Given the description of an element on the screen output the (x, y) to click on. 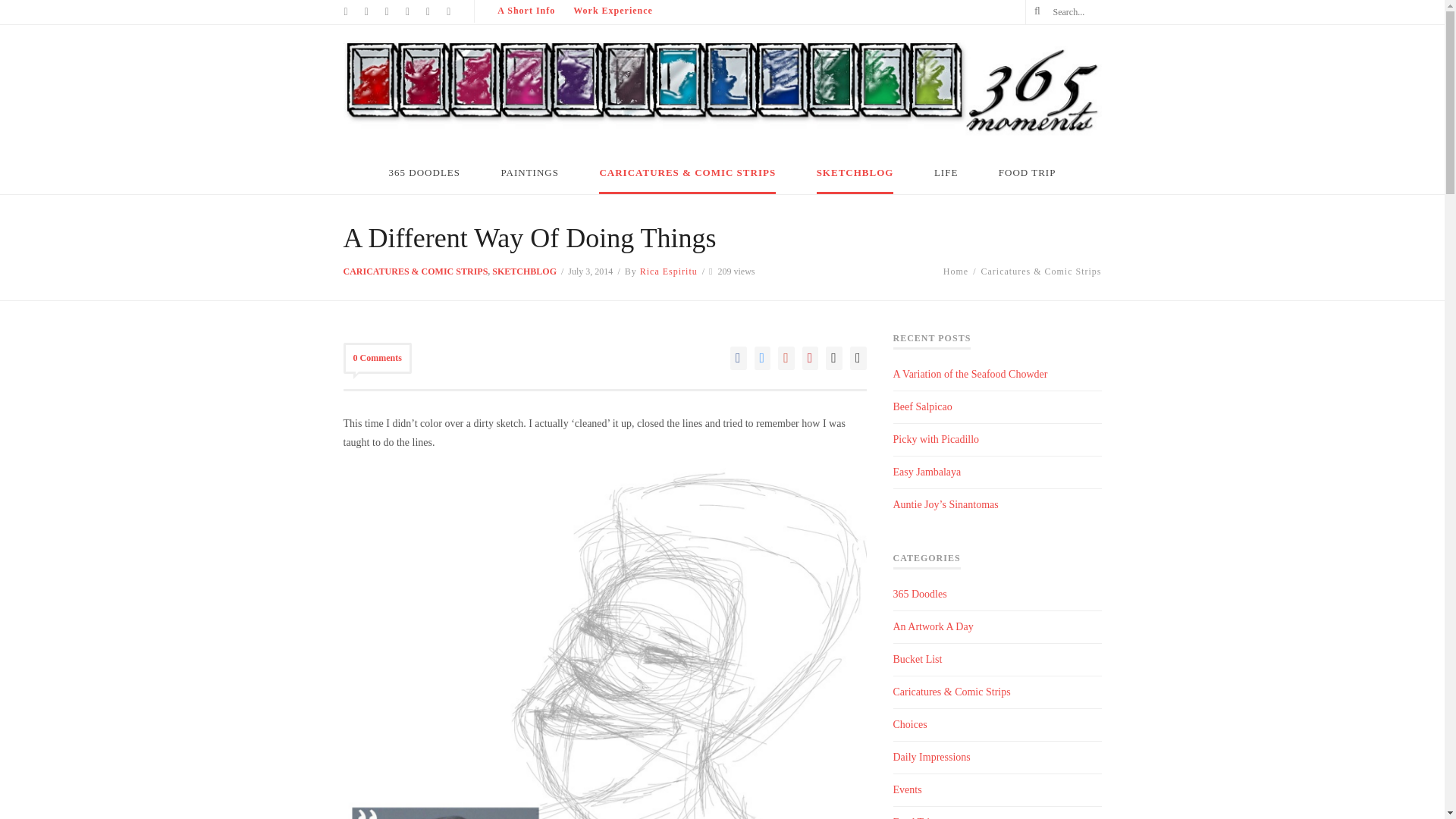
Work Experience (612, 10)
PAINTINGS (528, 176)
SKETCHBLOG (524, 271)
365 DOODLES (424, 176)
A Different Way Of Doing Things (529, 237)
SKETCHBLOG (854, 176)
Home (955, 271)
0 Comments (376, 358)
Doodles, Cartoons, Caricatures, Paintings and Memories (721, 137)
Rica Espiritu (668, 271)
